Given the description of an element on the screen output the (x, y) to click on. 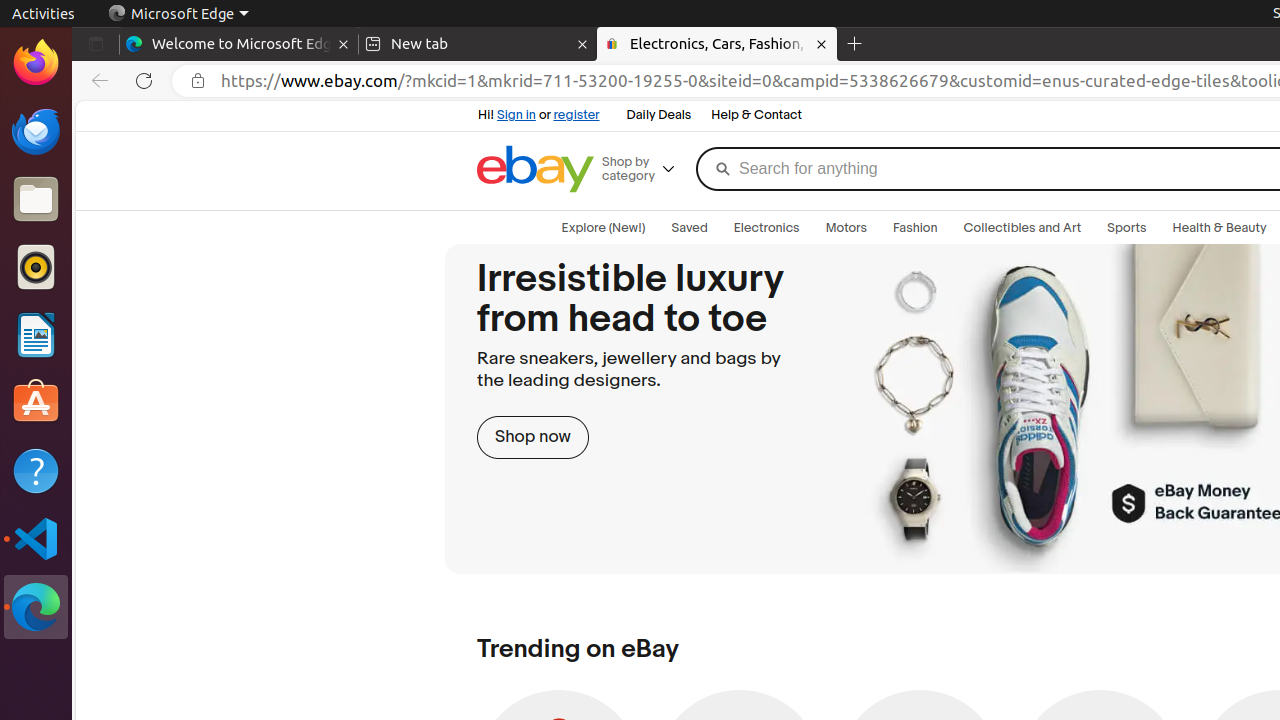
Electronics, Cars, Fashion, Collectibles & More | eBay Element type: page-tab (717, 44)
Ubuntu Software Element type: push-button (36, 402)
Sports Element type: link (1127, 228)
Microsoft Edge Element type: menu (178, 13)
Saved Element type: link (689, 228)
